Given the description of an element on the screen output the (x, y) to click on. 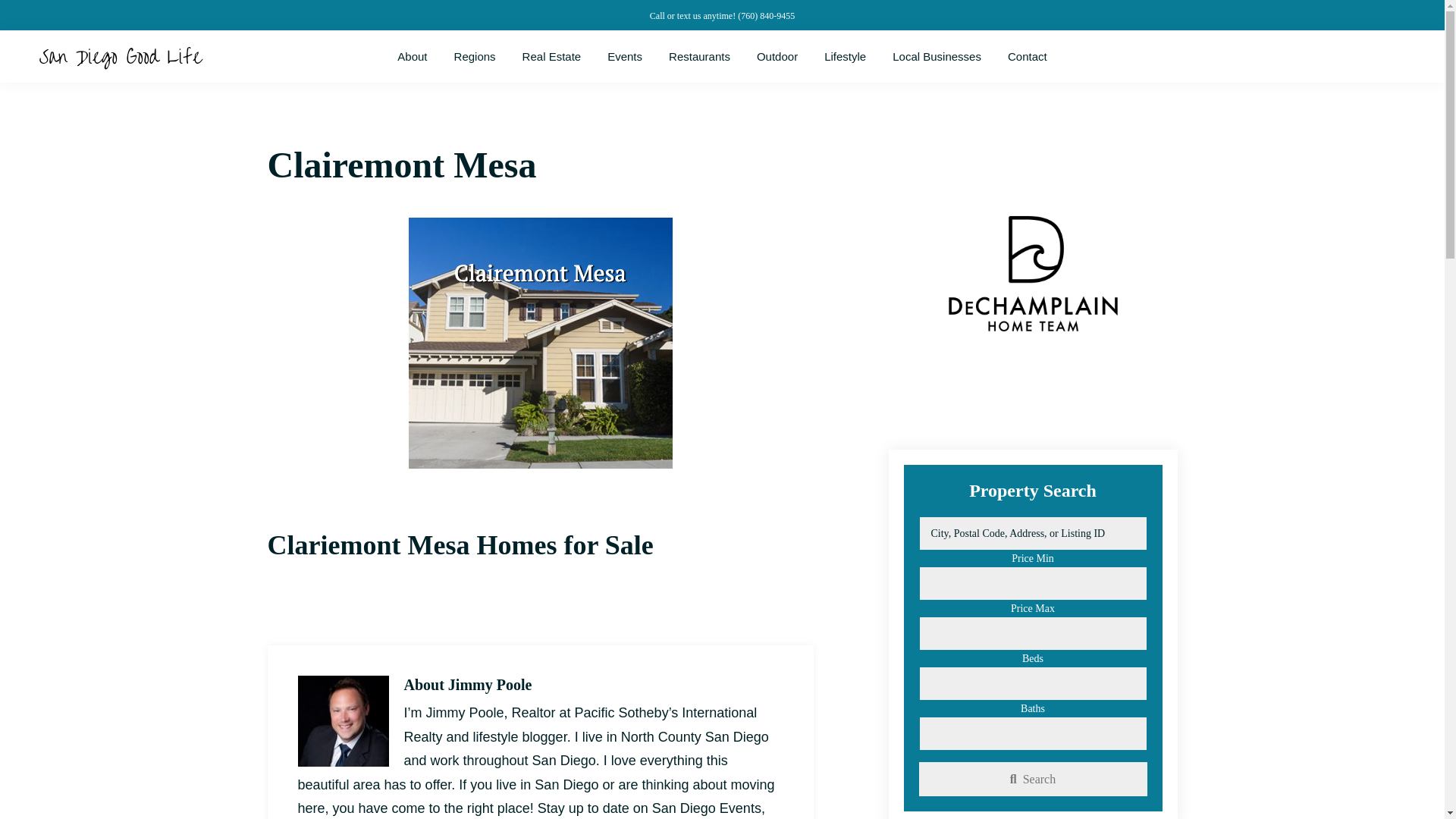
Regions (474, 56)
About (411, 56)
Only numbers and decimals are allowed (1032, 733)
